Given the description of an element on the screen output the (x, y) to click on. 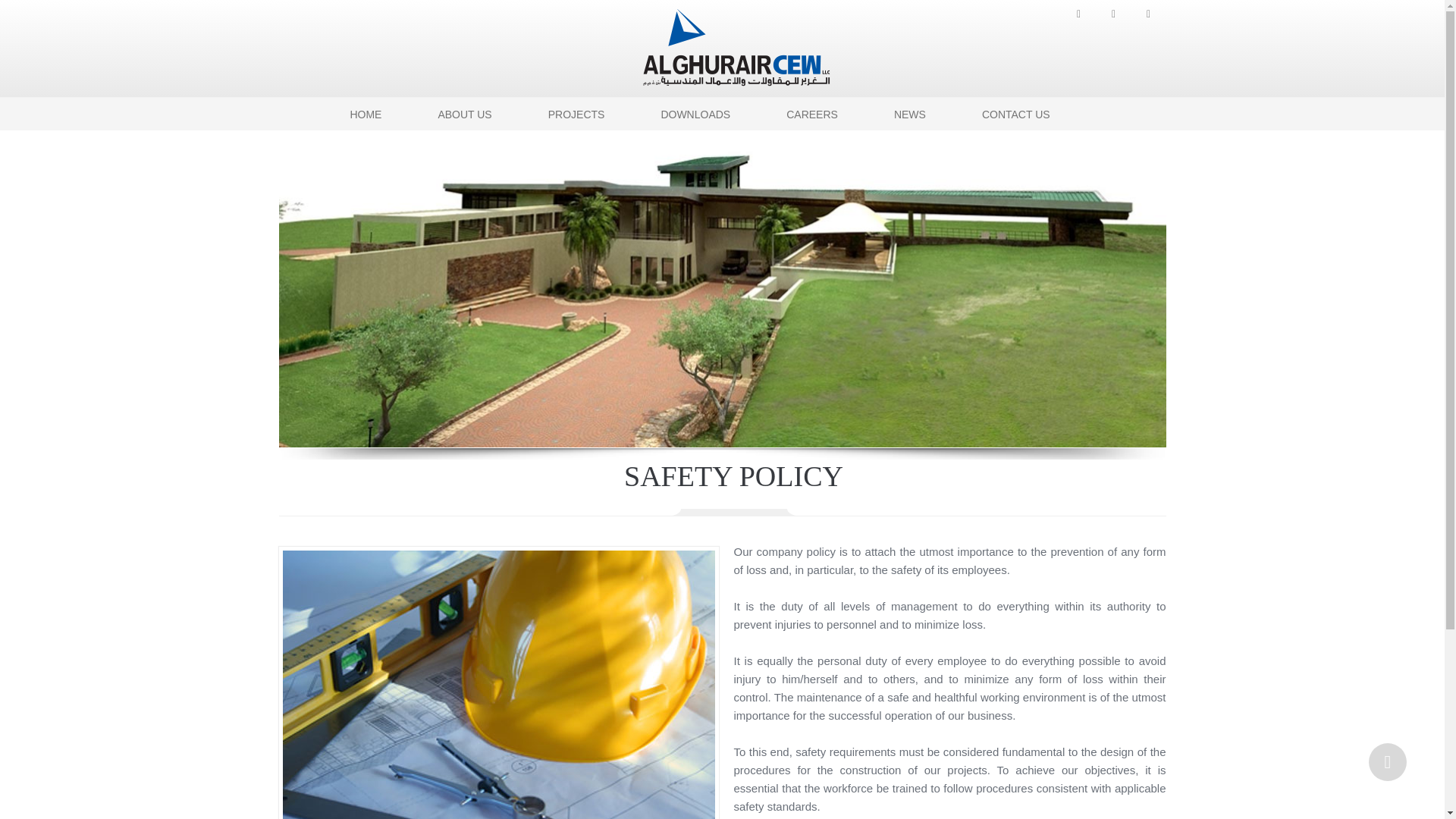
SIGN IN (368, 146)
ABOUT US (464, 113)
NEWS (909, 113)
DOWNLOADS (694, 113)
HOME (365, 113)
CONTACT US (1015, 113)
CAREERS (812, 113)
PROJECTS (576, 113)
